Given the description of an element on the screen output the (x, y) to click on. 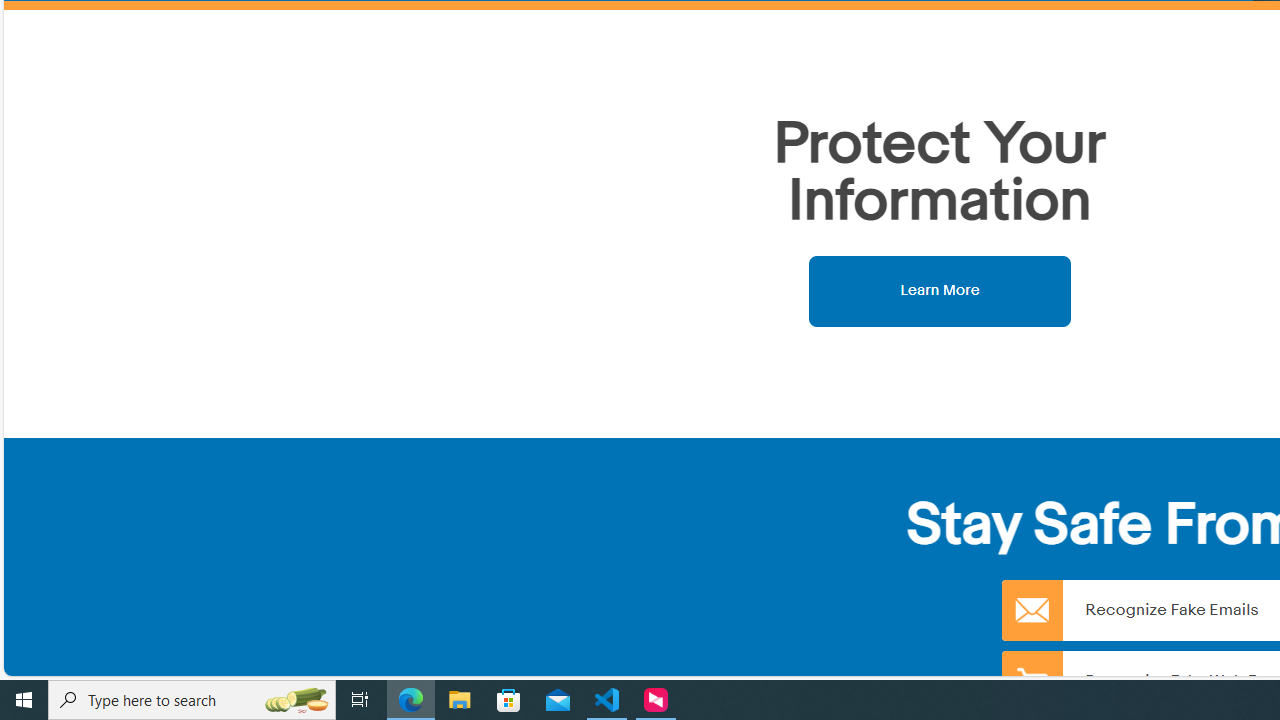
Learn More (939, 290)
